Given the description of an element on the screen output the (x, y) to click on. 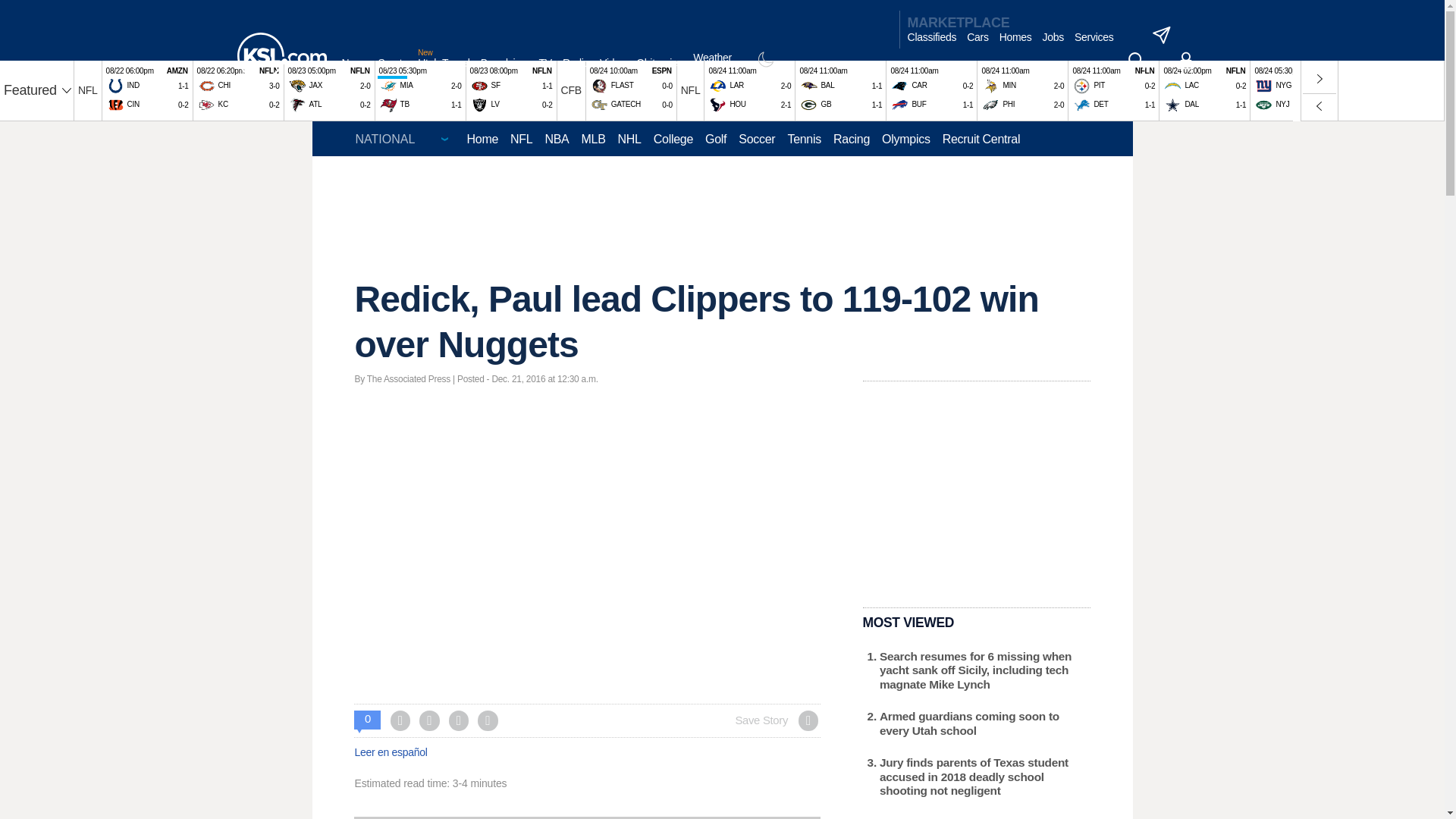
search (1135, 60)
KSL homepage (280, 55)
account - logged out (1185, 60)
